Given the description of an element on the screen output the (x, y) to click on. 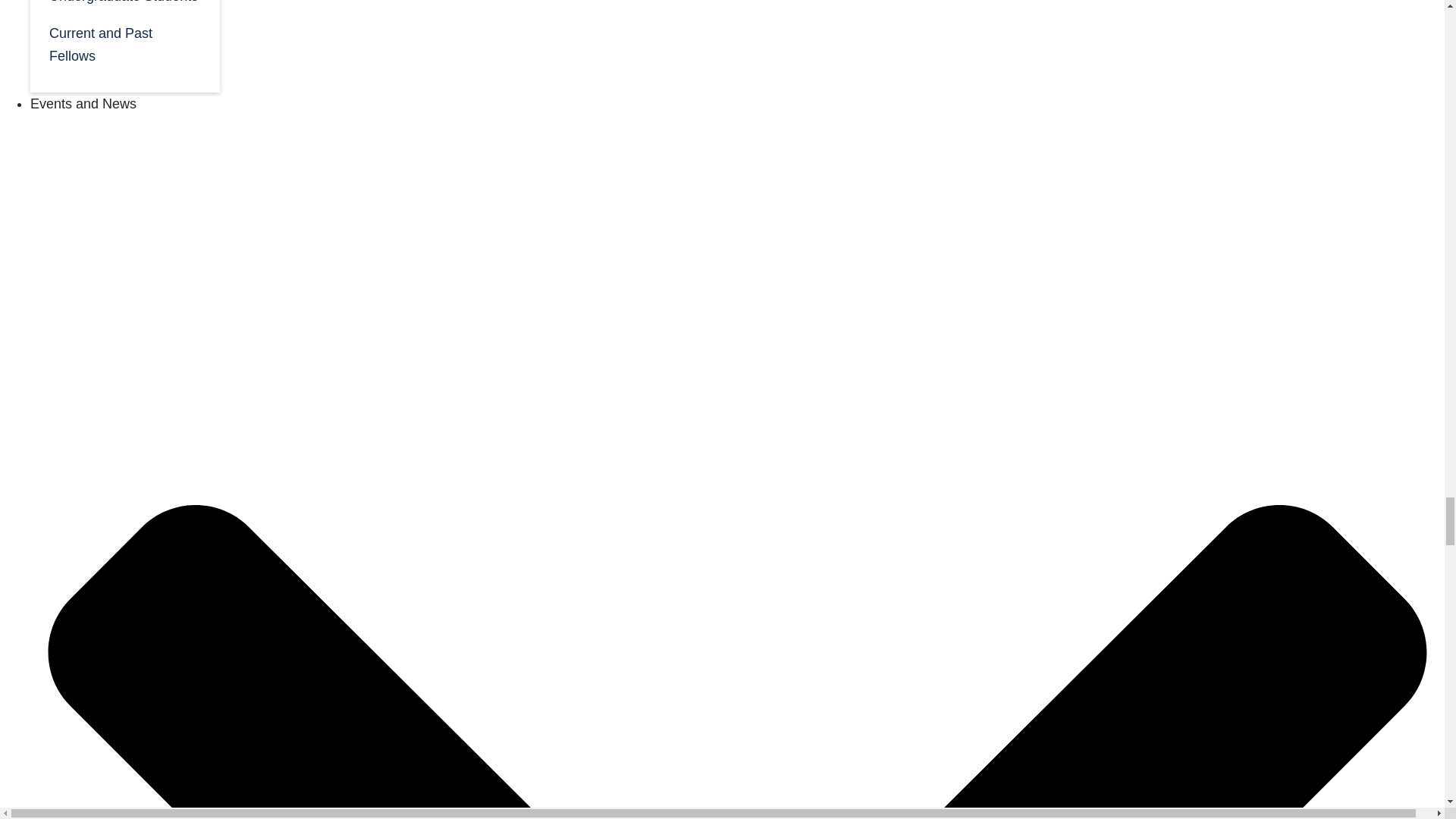
Study Abroad Scholarships for Undergraduate Students (125, 6)
Events and News (83, 103)
Current and Past Fellows (125, 43)
